Given the description of an element on the screen output the (x, y) to click on. 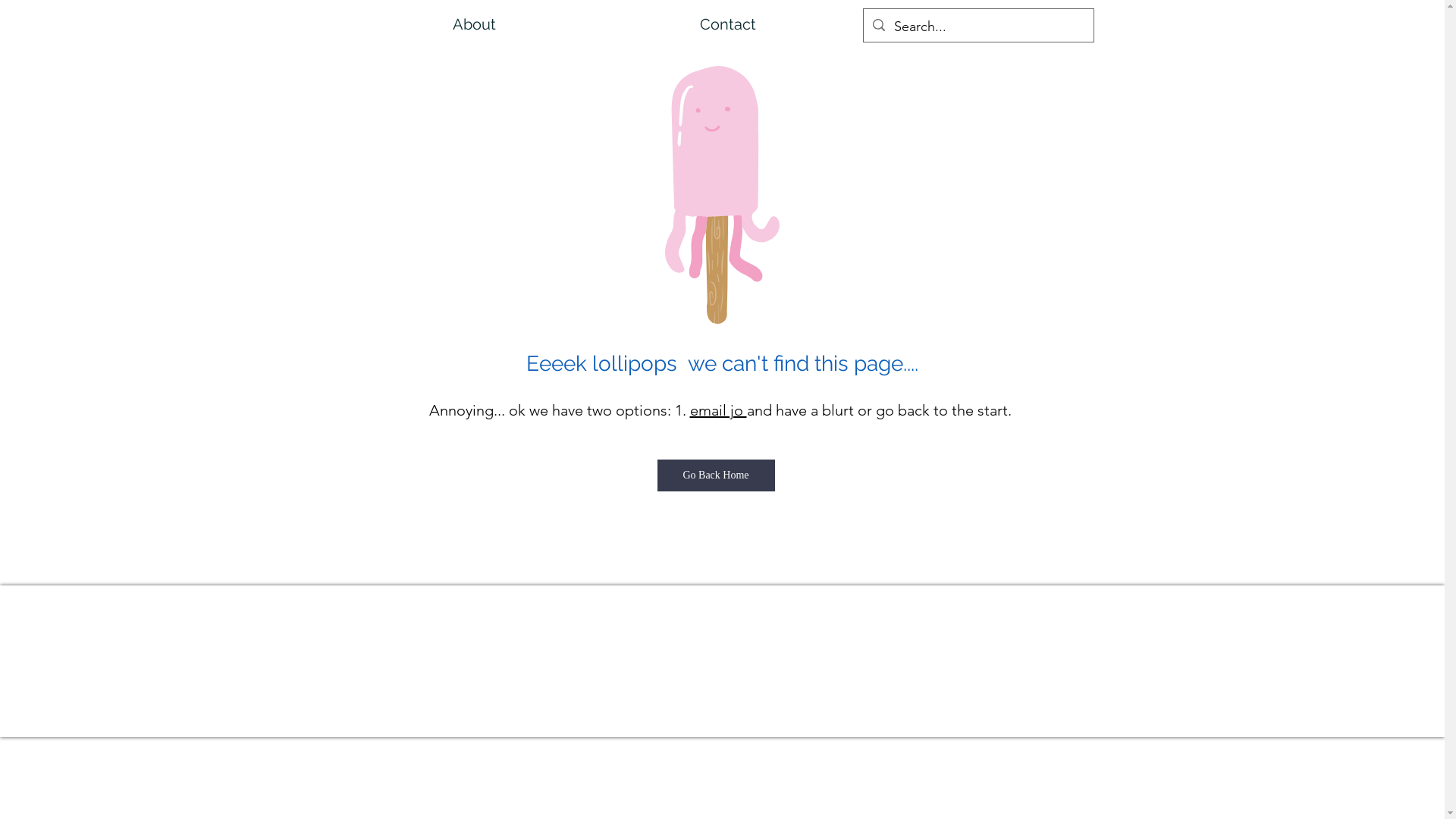
email jo Element type: text (718, 410)
Contact Element type: text (727, 24)
Blog Element type: text (976, 24)
Go Back Home Element type: text (715, 475)
About Element type: text (473, 24)
